Given the description of an element on the screen output the (x, y) to click on. 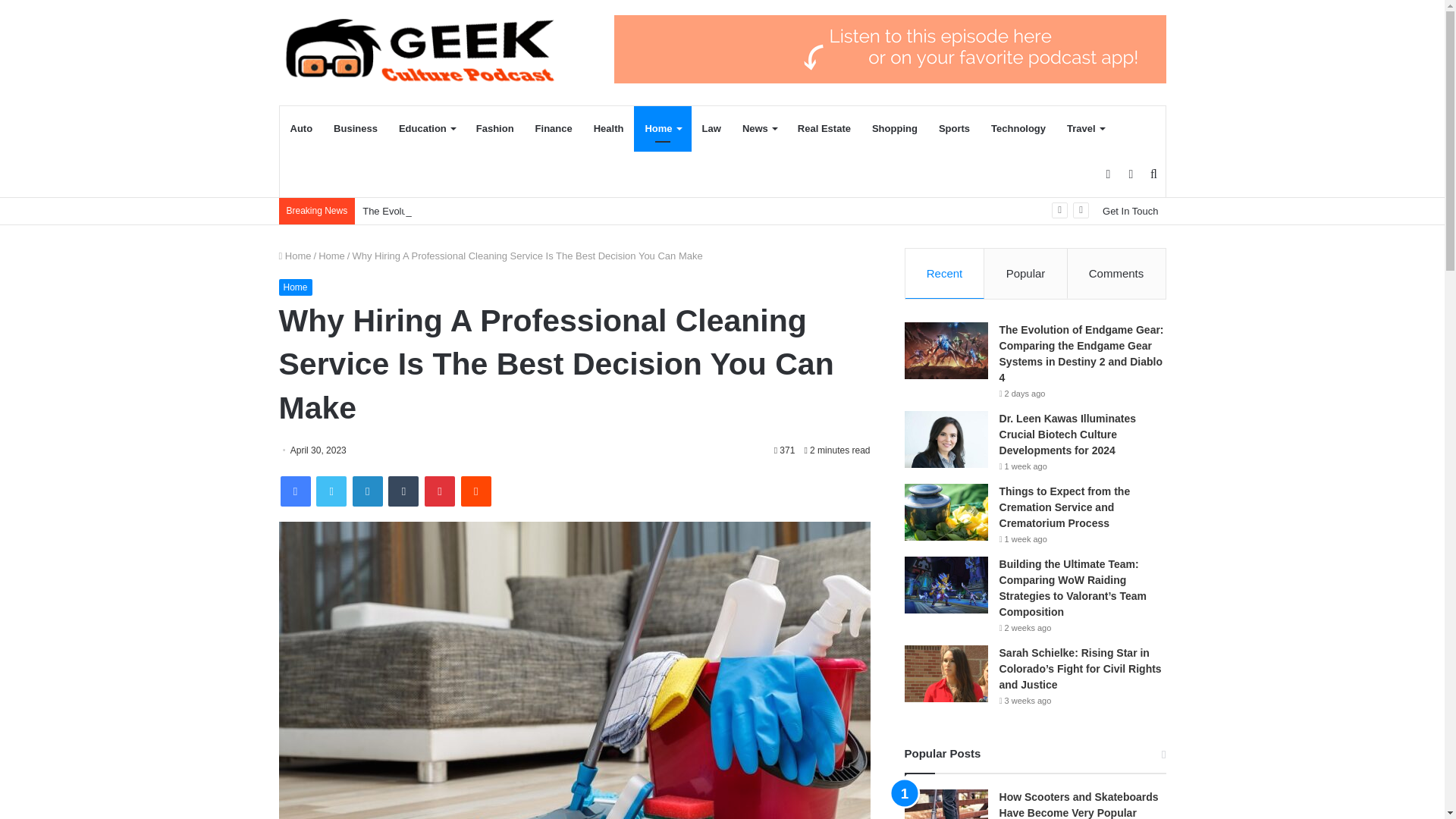
Home (331, 255)
Technology (1018, 128)
News (759, 128)
Get In Touch (1130, 211)
Finance (553, 128)
Fashion (494, 128)
LinkedIn (367, 490)
Tumblr (403, 490)
Facebook (296, 490)
Pinterest (439, 490)
LinkedIn (367, 490)
Twitter (330, 490)
Home (661, 128)
Travel (1086, 128)
